Given the description of an element on the screen output the (x, y) to click on. 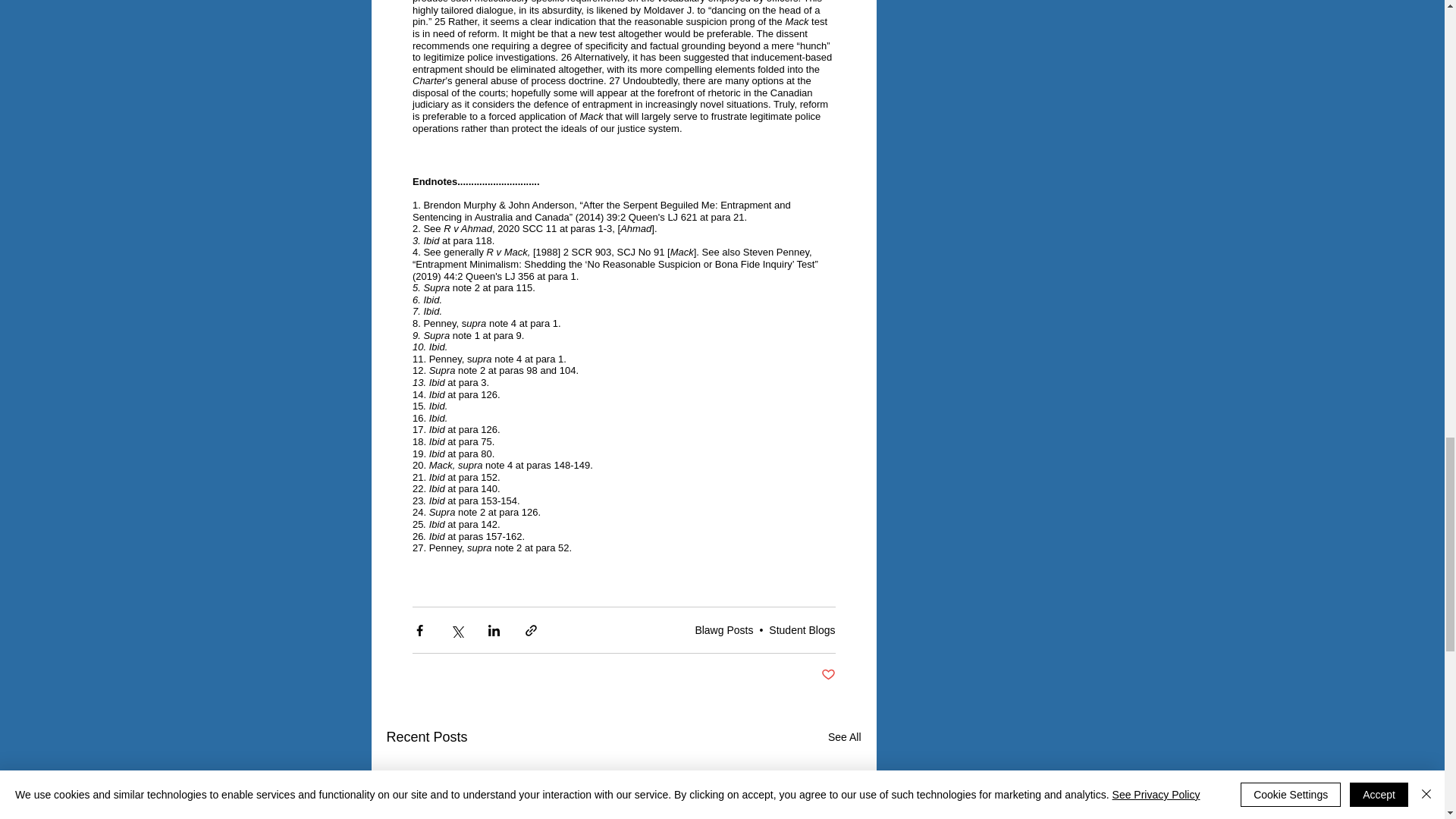
See All (844, 737)
Blawg Posts (723, 630)
Post not marked as liked (827, 675)
Student Blogs (801, 630)
